Given the description of an element on the screen output the (x, y) to click on. 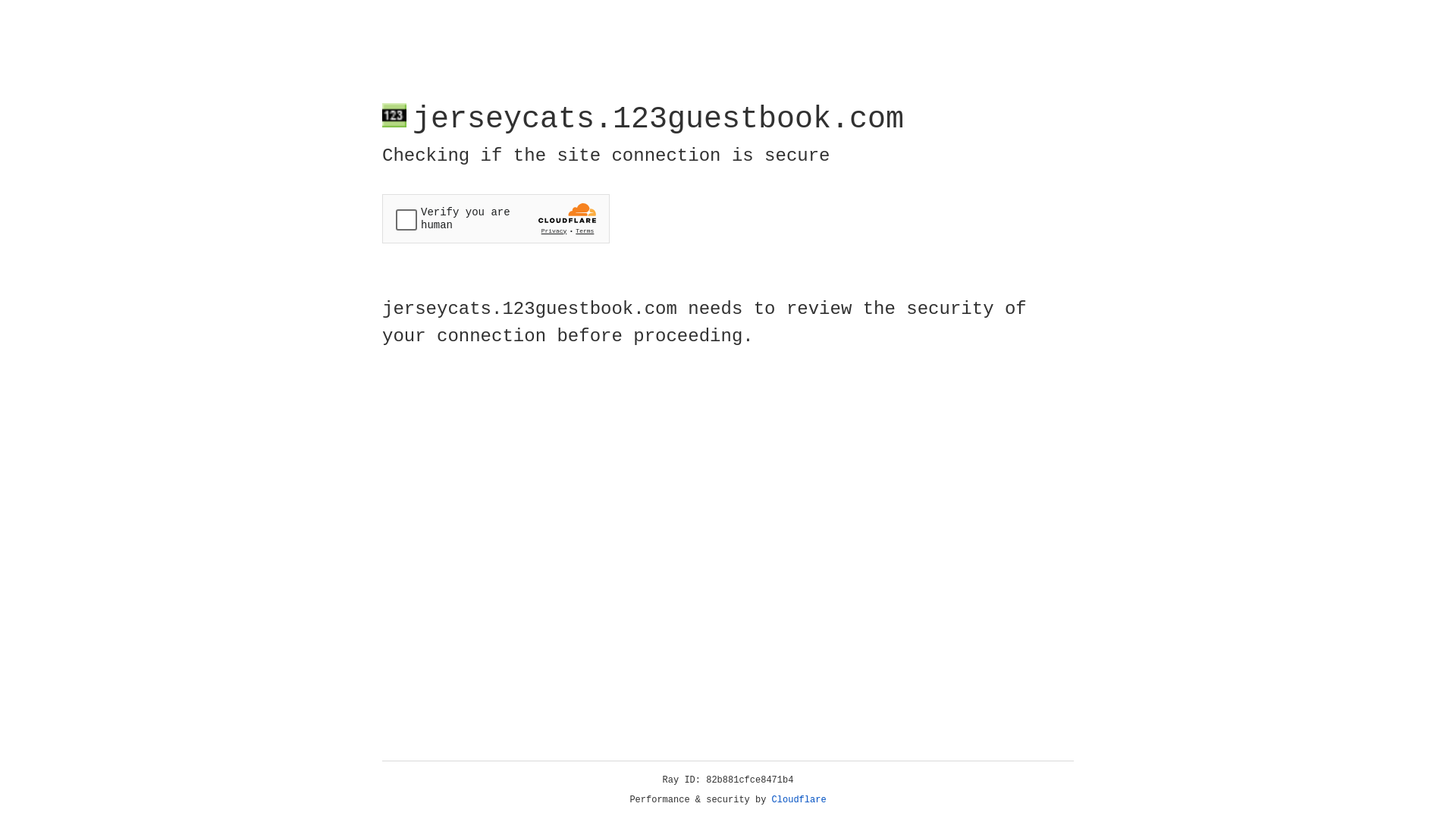
Widget containing a Cloudflare security challenge Element type: hover (495, 218)
Cloudflare Element type: text (798, 799)
